Given the description of an element on the screen output the (x, y) to click on. 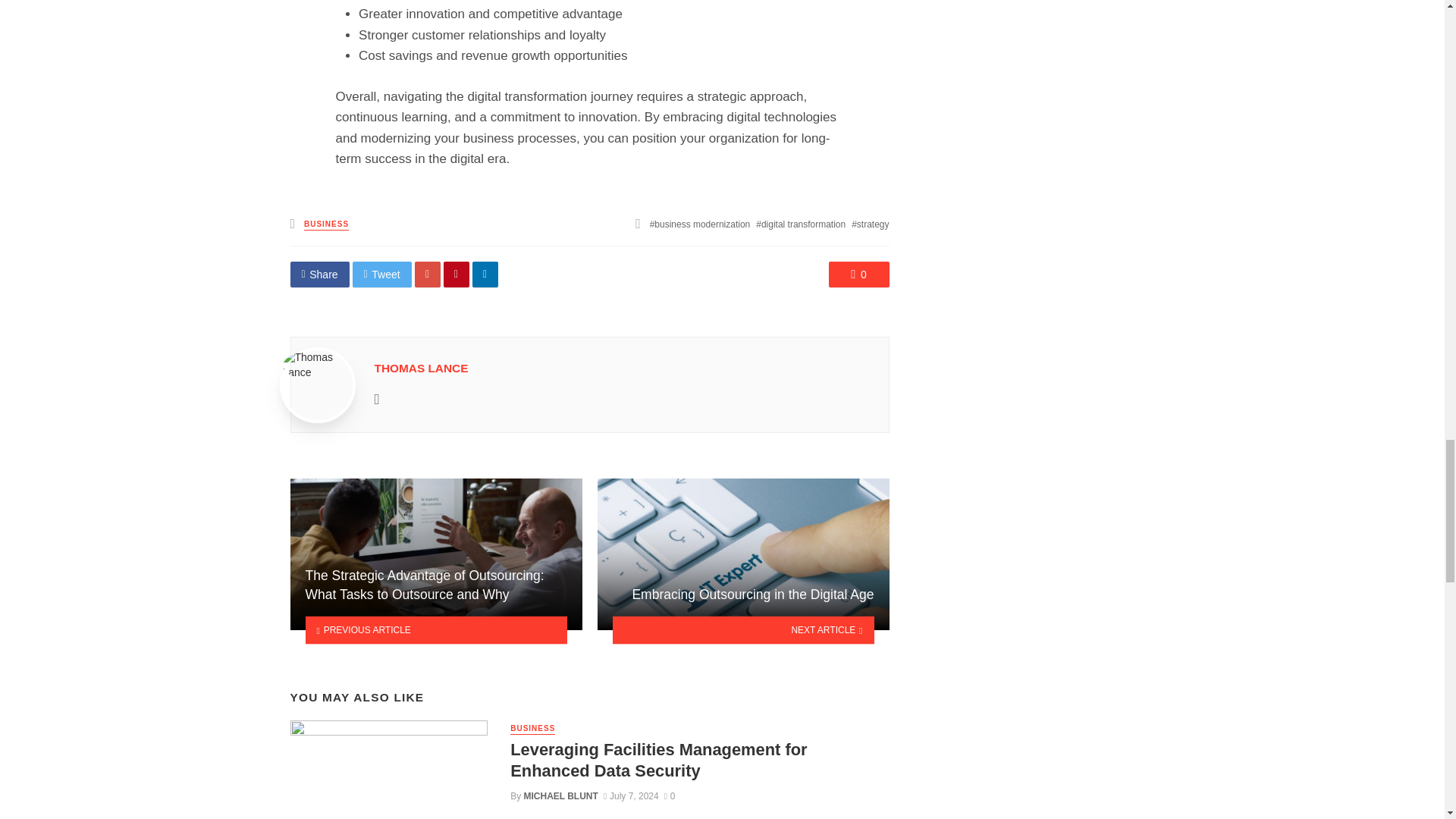
Tweet (382, 274)
digital transformation (800, 224)
BUSINESS (326, 224)
Leveraging Facilities Management for Enhanced Data Security (699, 760)
THOMAS LANCE (421, 367)
0 (858, 274)
strategy (869, 224)
Website (377, 398)
0 (669, 796)
NEXT ARTICLE (742, 630)
MICHAEL BLUNT (561, 796)
Share (319, 274)
BUSINESS (532, 728)
business modernization (700, 224)
PREVIOUS ARTICLE (434, 630)
